Given the description of an element on the screen output the (x, y) to click on. 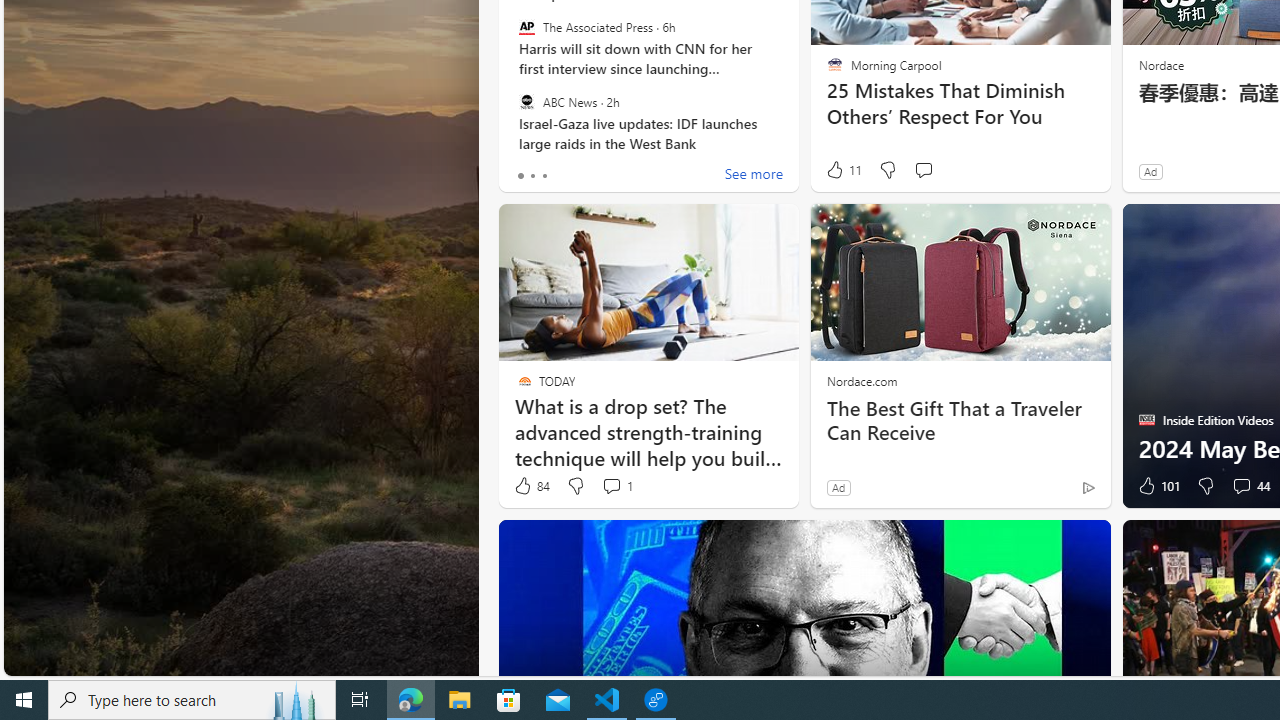
84 Like (531, 485)
tab-0 (520, 175)
The Best Gift That a Traveler Can Receive (959, 420)
Nordace.com (861, 380)
11 Like (843, 170)
Dislike (1204, 485)
View comments 44 Comment (1249, 485)
101 Like (1157, 485)
Nordace (1160, 64)
Start the conversation (923, 170)
Ad Choice (1087, 487)
tab-2 (543, 175)
tab-1 (532, 175)
View comments 1 Comment (611, 485)
